Given the description of an element on the screen output the (x, y) to click on. 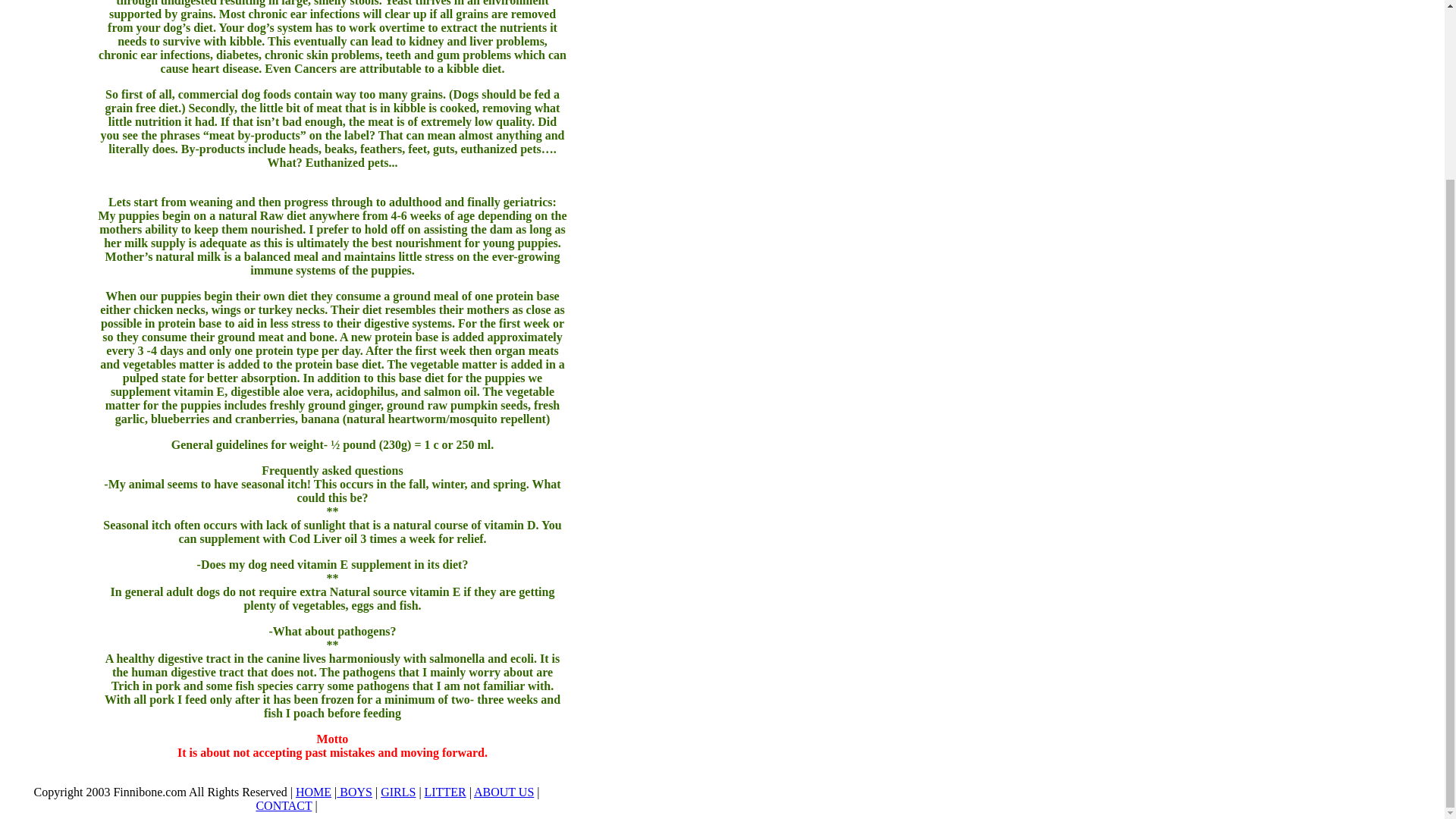
BOYS (354, 791)
GIRLS (397, 791)
HOME (313, 791)
CONTACT (283, 805)
ABOUT US (504, 791)
LITTER (445, 791)
